Given the description of an element on the screen output the (x, y) to click on. 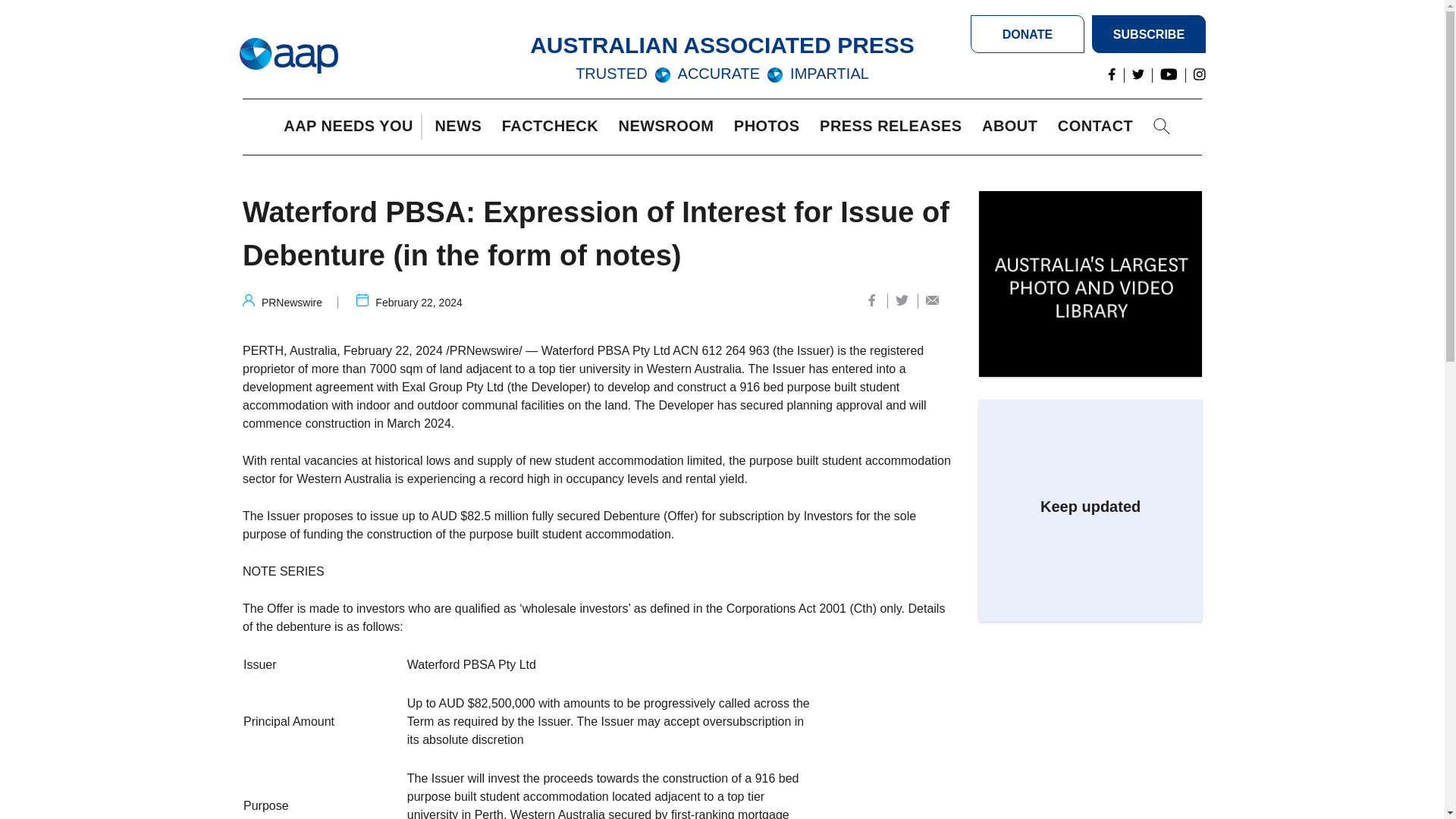
ABOUT (1013, 126)
FACTCHECK (553, 126)
Home (288, 56)
AUSTRALIAN ASSOCIATED PRESS (721, 44)
NEWS (461, 126)
AAP NEEDS YOU (351, 126)
CONTACT (1099, 126)
NEWSROOM (670, 126)
PHOTOS (770, 126)
SUBSCRIBE (1148, 34)
